Given the description of an element on the screen output the (x, y) to click on. 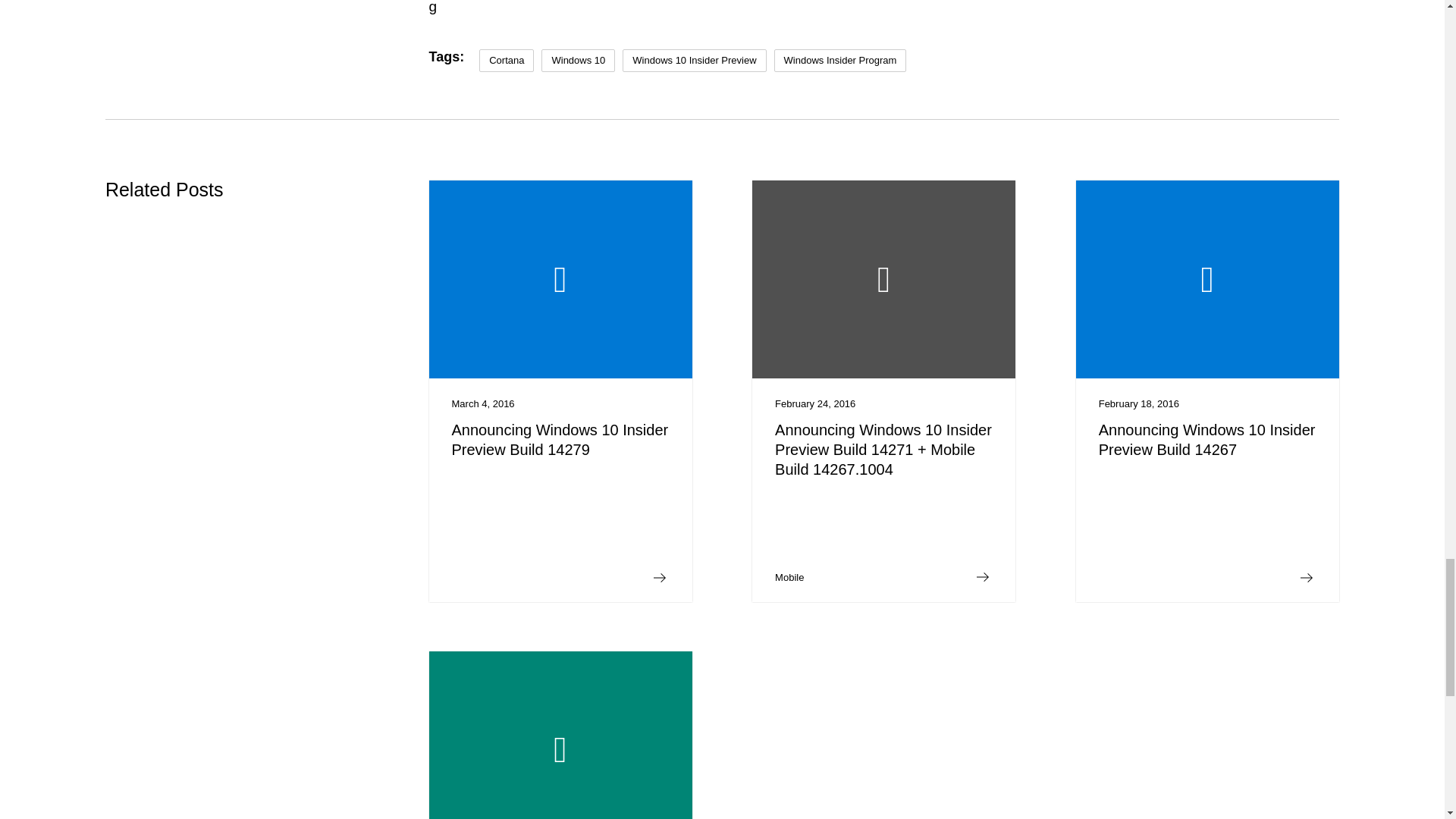
Cortana Tag (506, 60)
Windows 10 Tag (577, 60)
Windows Insider Program Tag (840, 60)
Windows 10 Insider Preview Tag (694, 60)
